Given the description of an element on the screen output the (x, y) to click on. 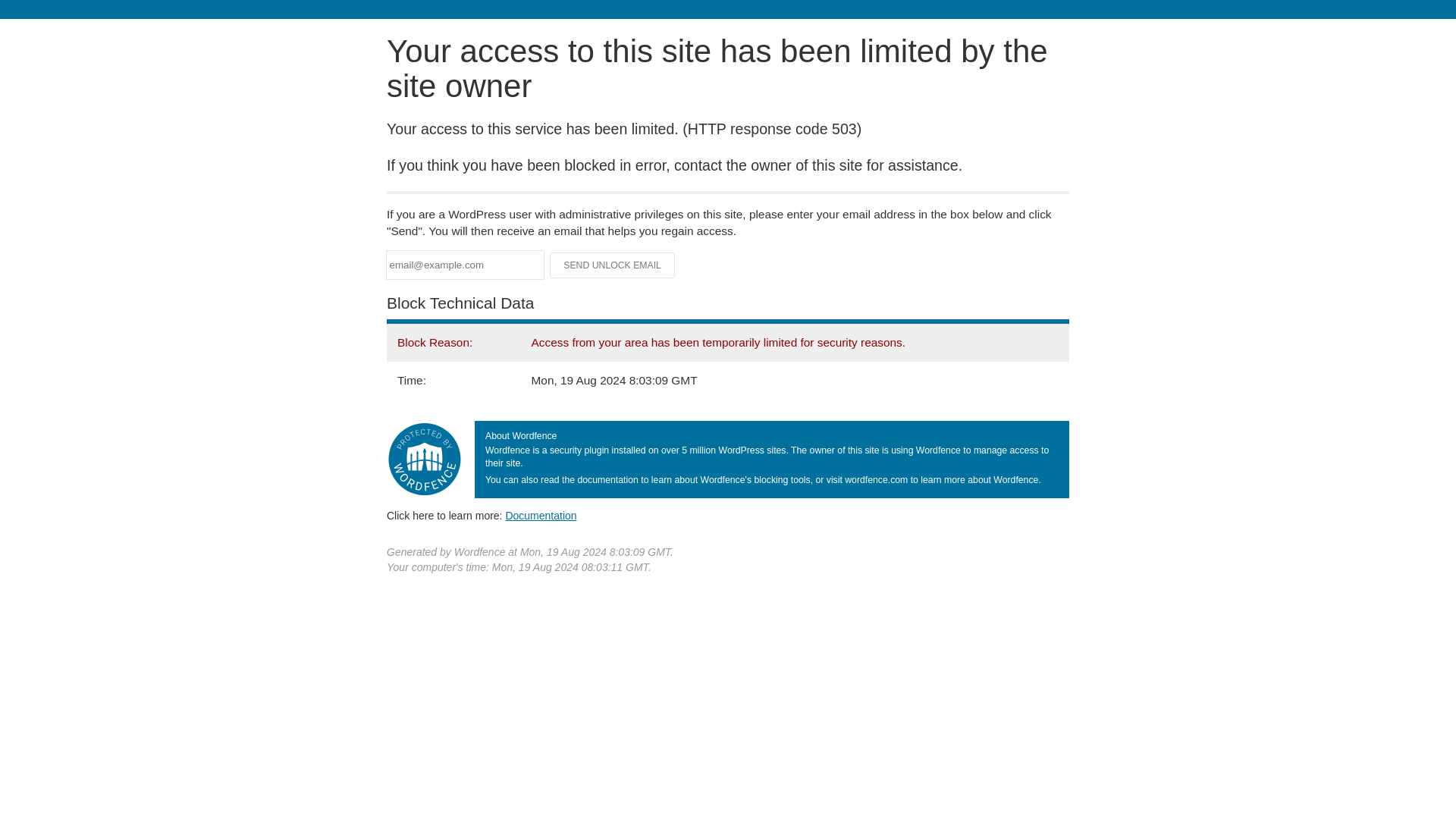
Send Unlock Email (612, 265)
Documentation (540, 515)
Send Unlock Email (612, 265)
